Given the description of an element on the screen output the (x, y) to click on. 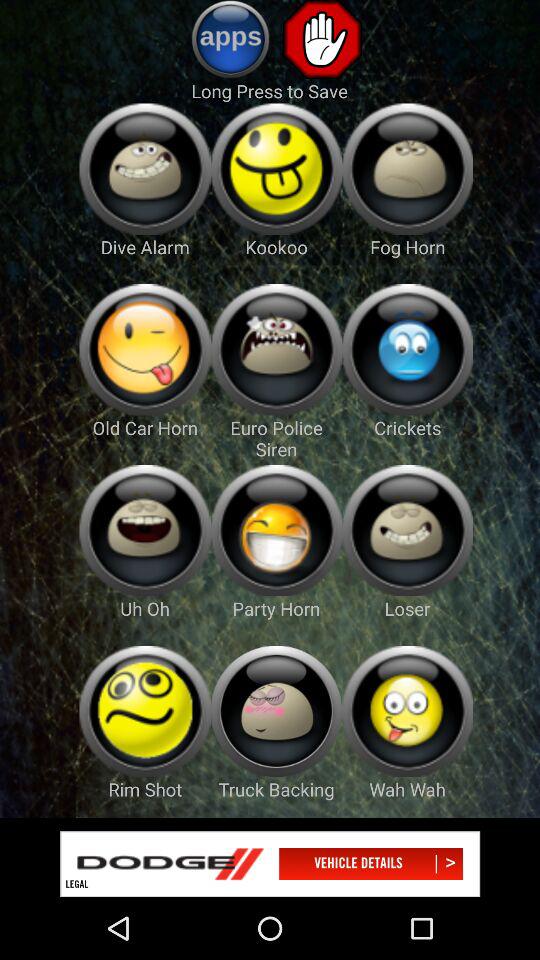
play loser ringtone (407, 530)
